Given the description of an element on the screen output the (x, y) to click on. 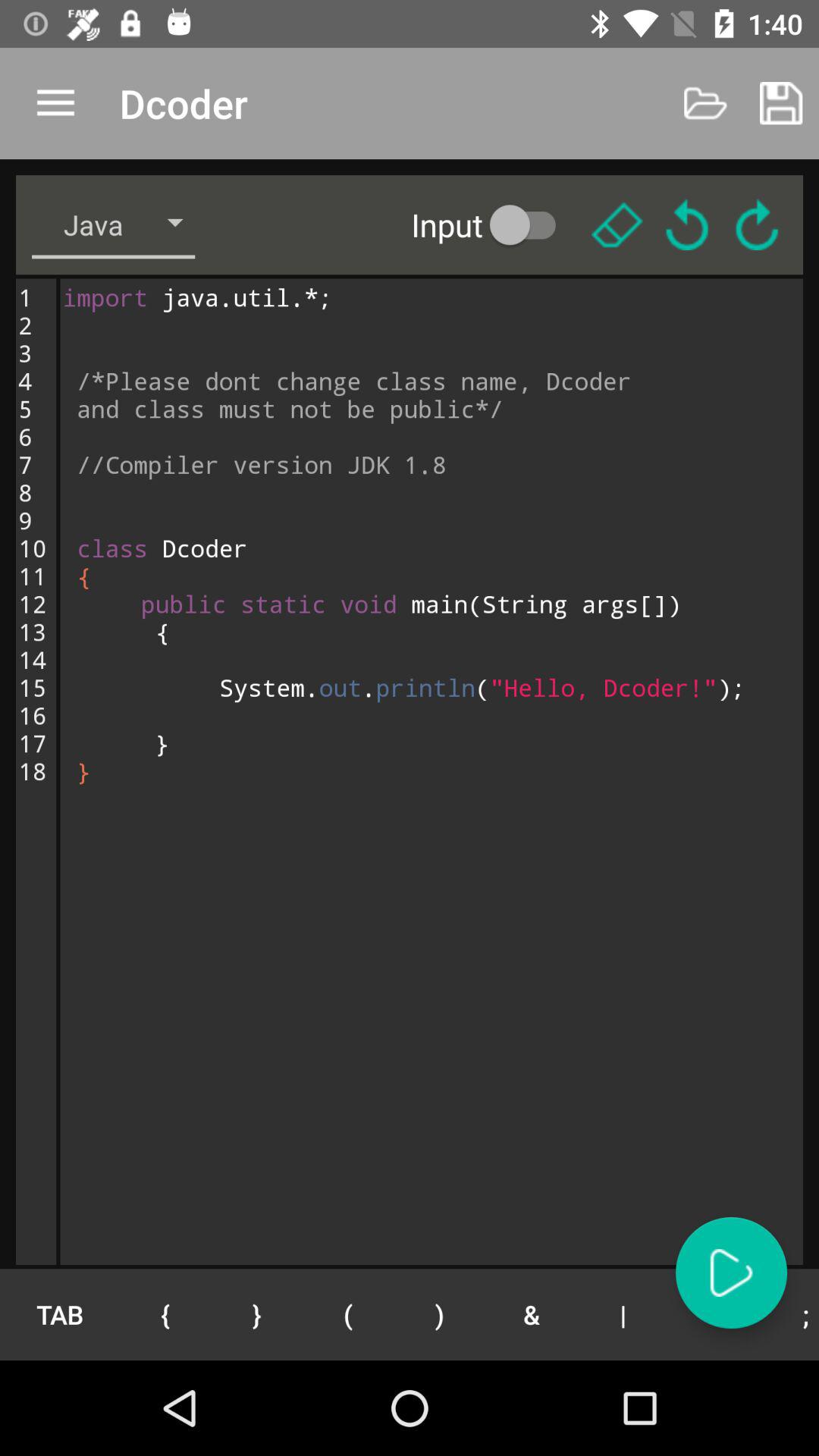
turn off app to the left of the dcoder app (55, 103)
